Given the description of an element on the screen output the (x, y) to click on. 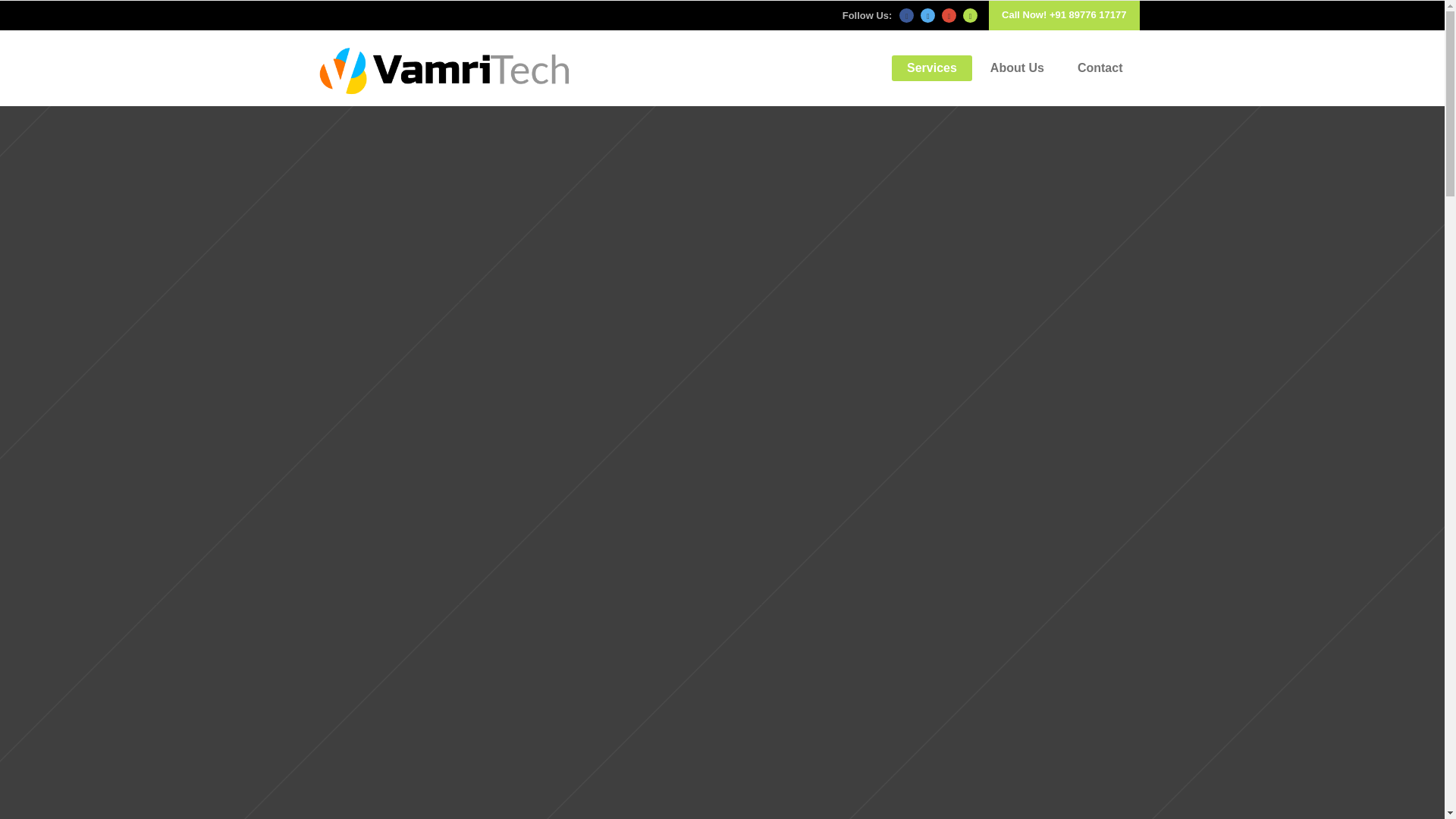
Contact (1100, 68)
About Us (1017, 68)
Services (931, 68)
